Given the description of an element on the screen output the (x, y) to click on. 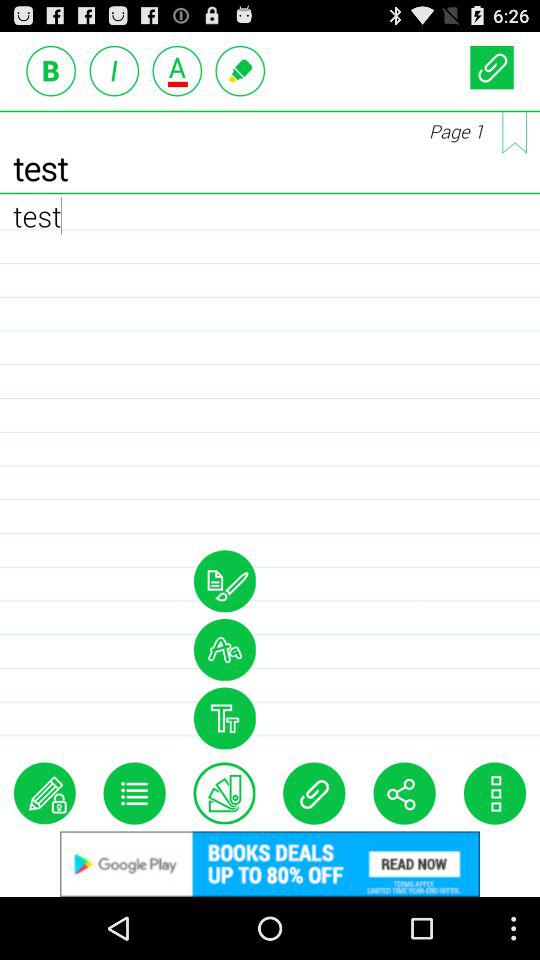
add to attachment (314, 793)
